Given the description of an element on the screen output the (x, y) to click on. 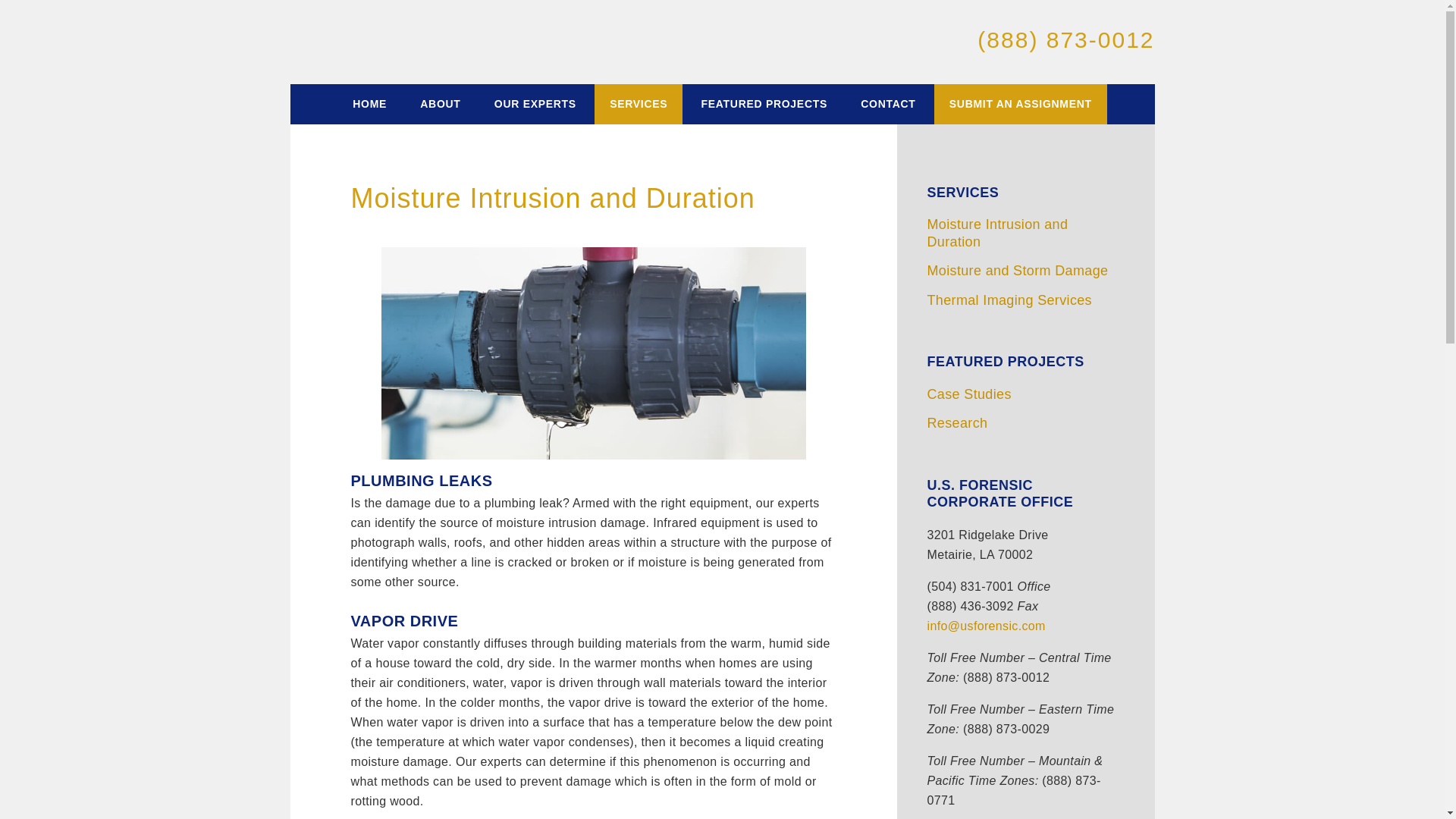
Moisture Intrusion and Duration (996, 233)
SUBMIT AN ASSIGNMENT (1020, 104)
SERVICES (638, 104)
Moisture and Storm Damage (1017, 270)
ABOUT (440, 104)
Case Studies (968, 394)
CONTACT (887, 104)
SERVICES (962, 192)
FEATURED PROJECTS (764, 104)
Research (956, 422)
Moisture Source - US Forensic (448, 41)
HOME (369, 104)
OUR EXPERTS (535, 104)
Thermal Imaging Services (1008, 299)
